Given the description of an element on the screen output the (x, y) to click on. 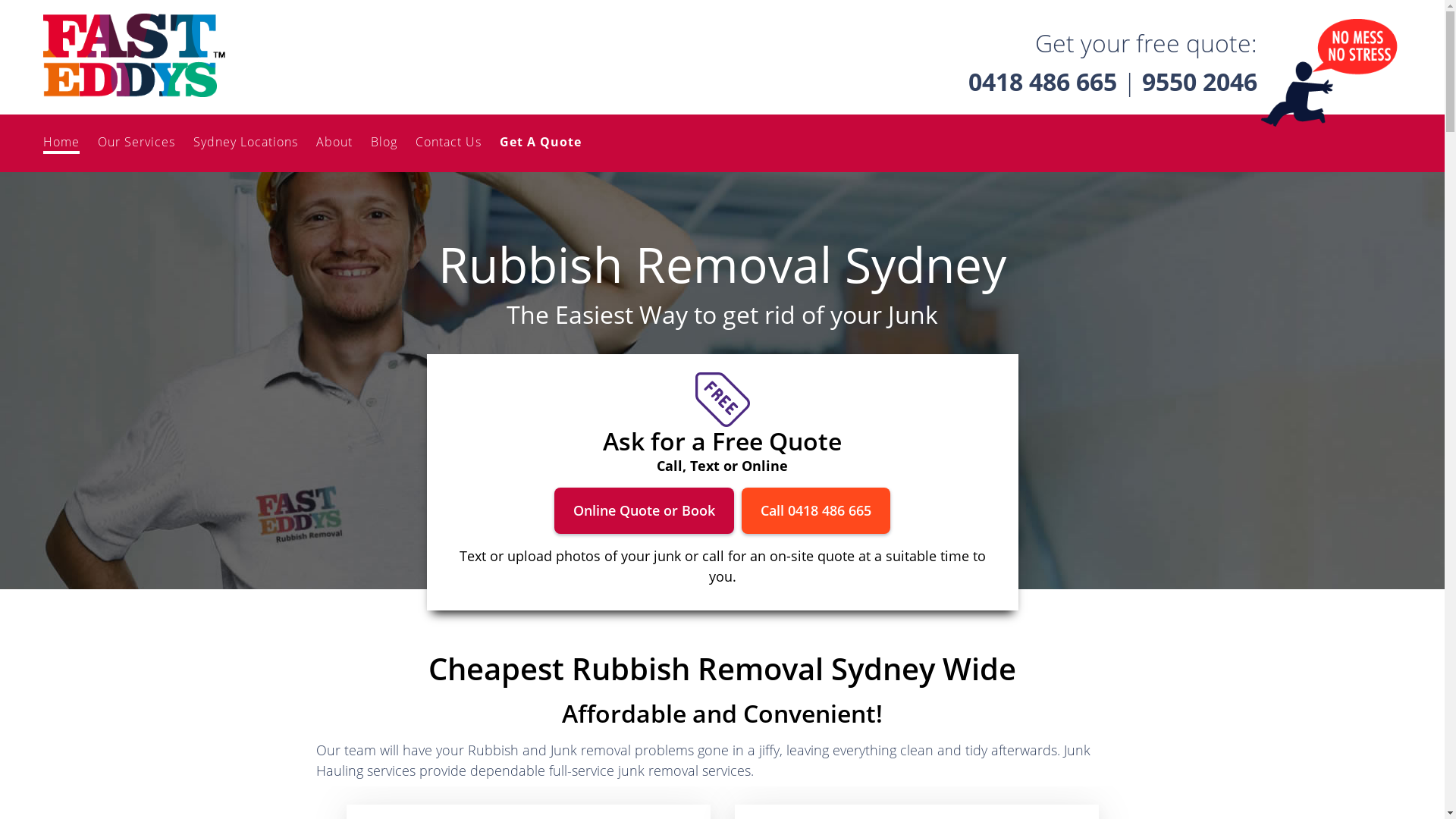
Online Quote or Book Element type: text (644, 510)
Contact Us Element type: text (448, 141)
Blog Element type: text (383, 141)
Call 0418 486 665 Element type: text (815, 510)
Get A Quote Element type: text (540, 141)
Home Element type: text (61, 142)
